Given the description of an element on the screen output the (x, y) to click on. 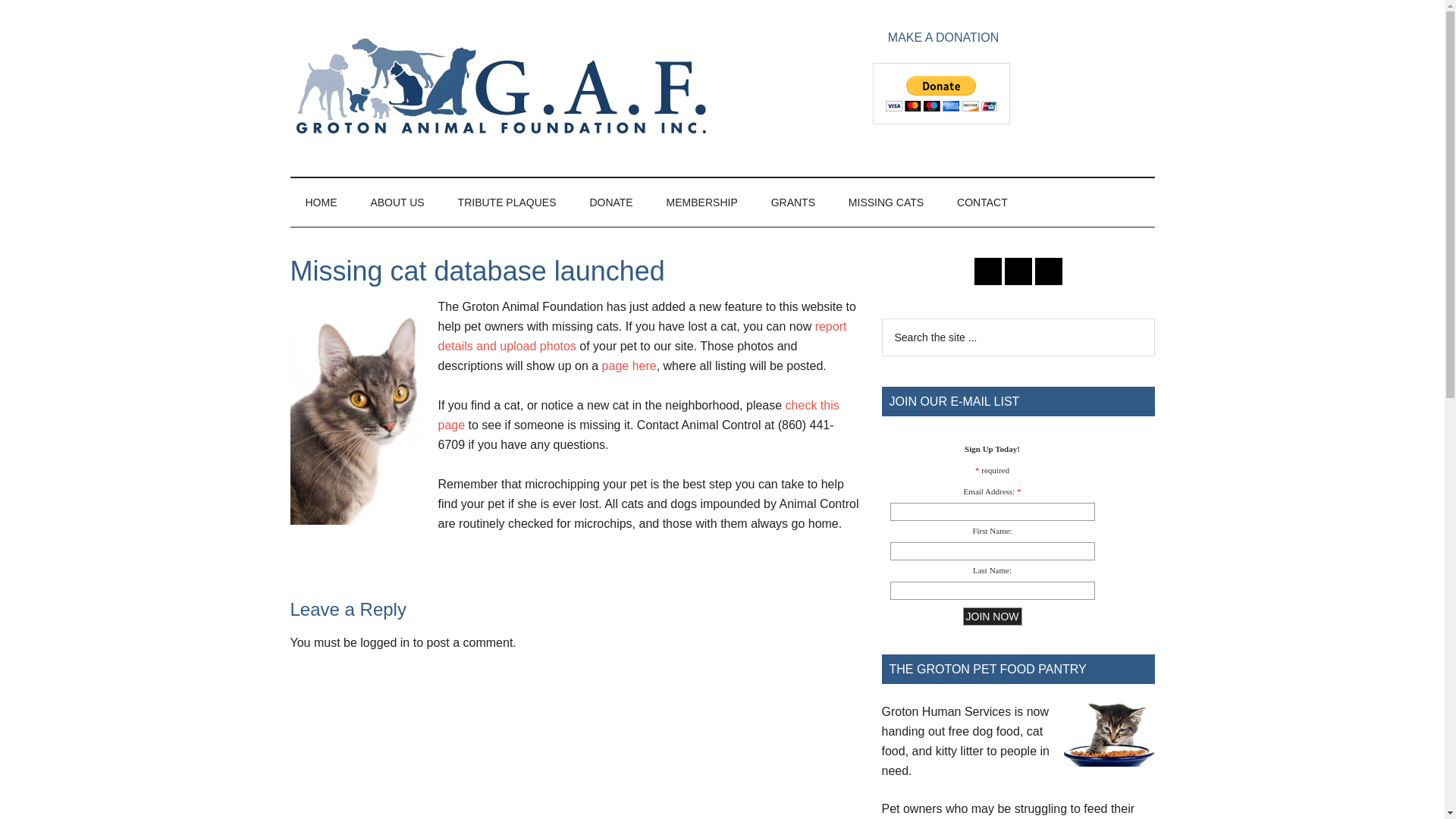
DONATE (610, 202)
logged in (384, 642)
Missing cats  (629, 365)
Enter a description of your missing cat (642, 336)
Join Now (992, 616)
GRANTS (792, 202)
MISSING CATS (885, 202)
page here (629, 365)
check this page (639, 414)
